Given the description of an element on the screen output the (x, y) to click on. 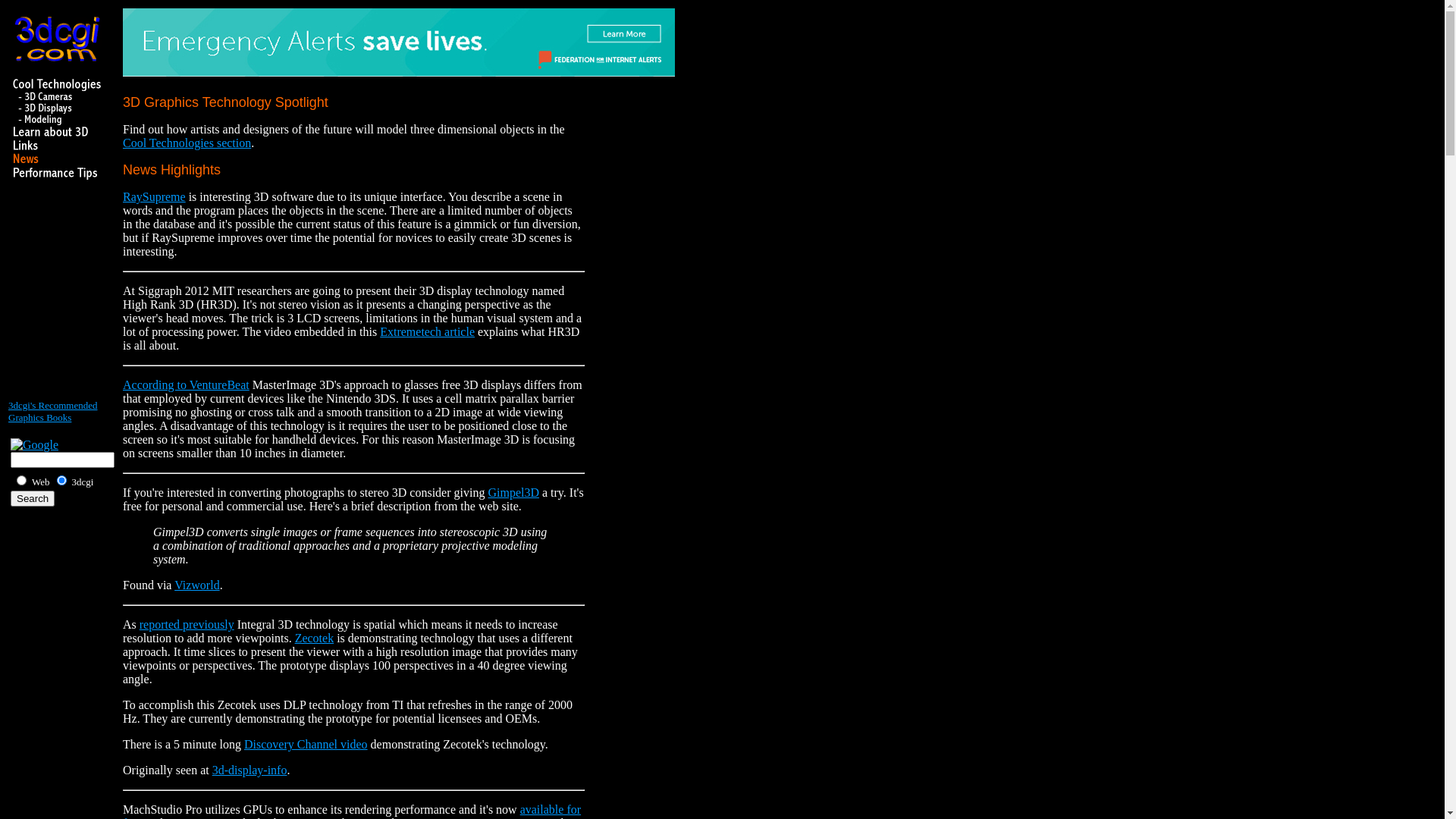
According to VentureBeat Element type: text (185, 384)
Discovery Channel video Element type: text (305, 743)
3dcgi's Recommended Graphics Books Element type: text (52, 410)
reported previously Element type: text (186, 624)
Vizworld Element type: text (196, 584)
Search Element type: text (32, 498)
Advertisement Element type: hover (53, 296)
Extremetech article Element type: text (426, 331)
RaySupreme Element type: text (153, 196)
Gimpel3D Element type: text (513, 492)
3d-display-info Element type: text (249, 769)
Cool Technologies section Element type: text (186, 142)
Zecotek Element type: text (314, 637)
